Given the description of an element on the screen output the (x, y) to click on. 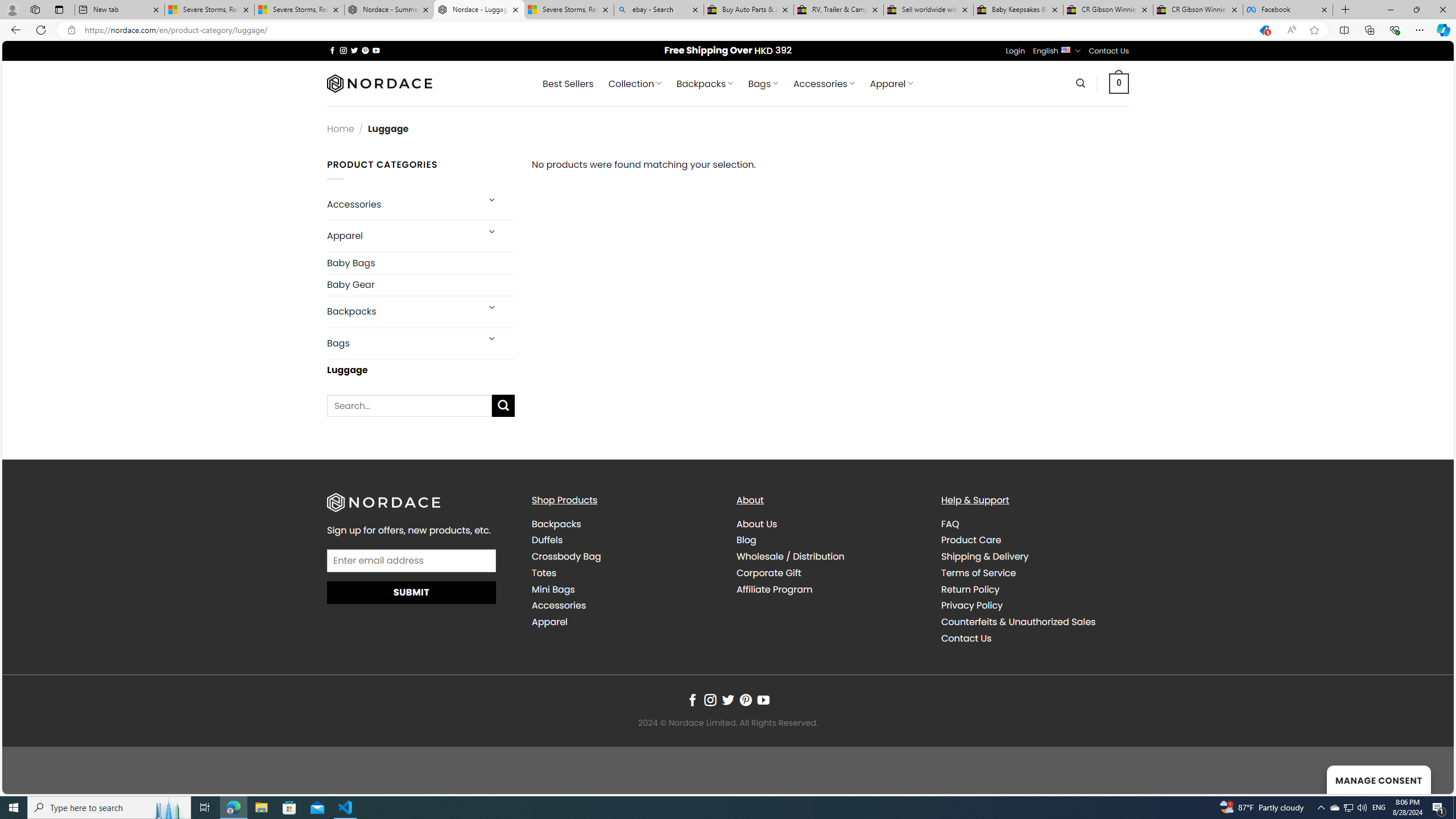
Bags (402, 343)
